Given the description of an element on the screen output the (x, y) to click on. 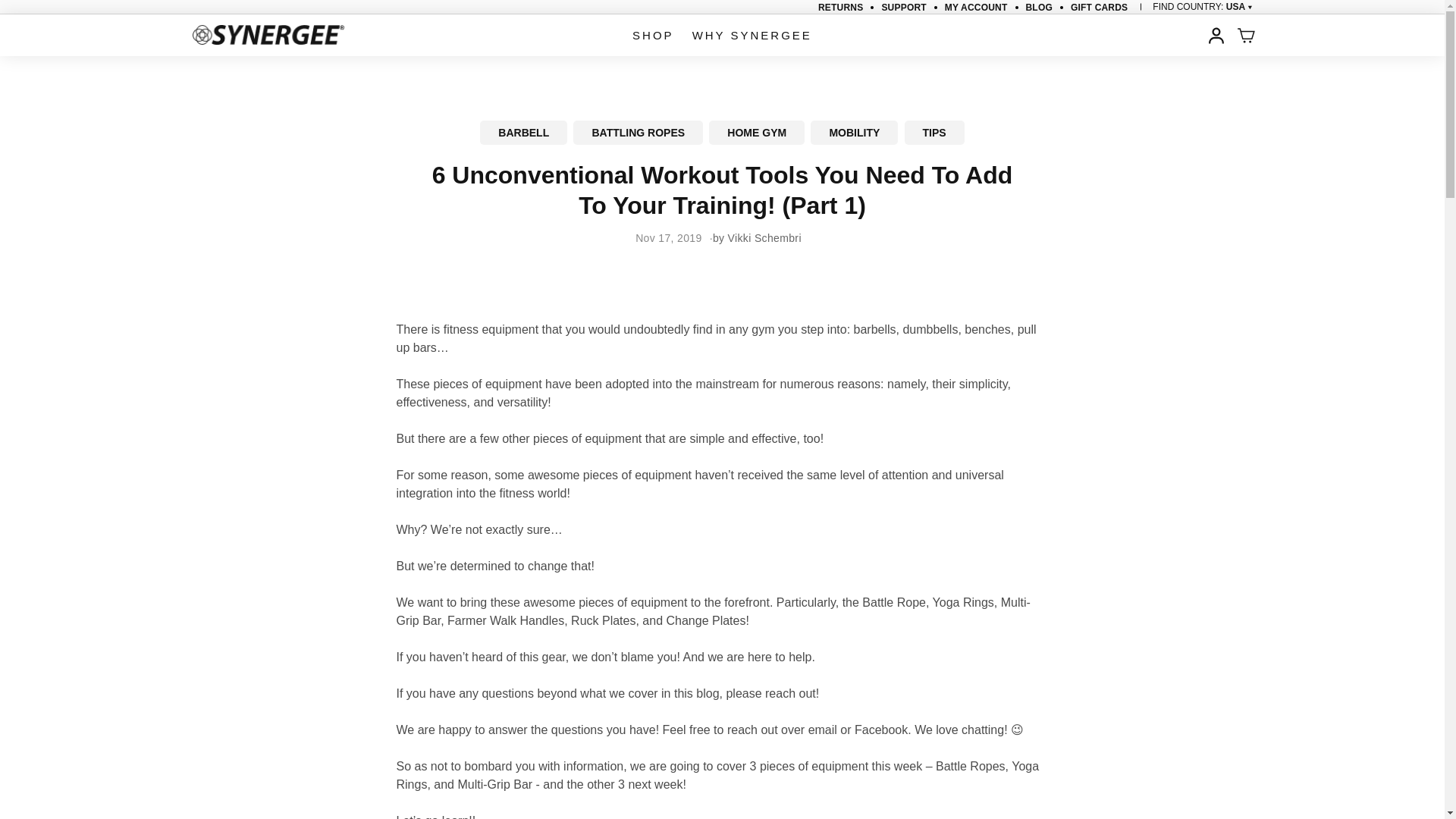
SUPPORT (903, 7)
GIFT CARDS (1098, 7)
RETURNS (840, 7)
MY ACCOUNT (975, 7)
SHOP (652, 35)
BLOG (1038, 7)
